Given the description of an element on the screen output the (x, y) to click on. 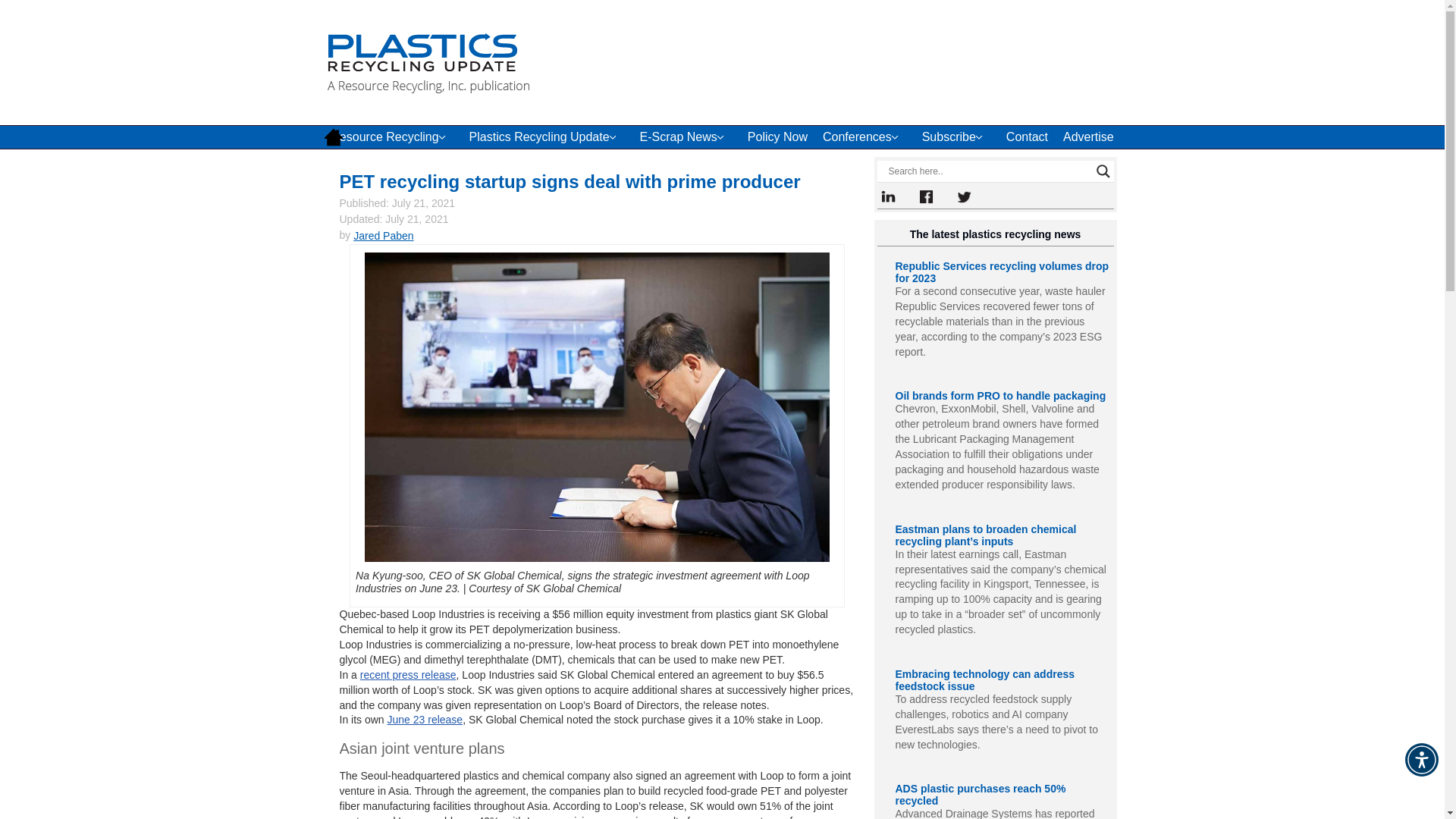
Conferences (864, 137)
Accessibility Menu (1421, 759)
Contact (1026, 137)
E-Scrap News (685, 137)
Policy Now (777, 137)
Plastics Recycling Update (546, 137)
Advertise (1088, 137)
Resource Recycling (392, 137)
Subscribe (956, 137)
View all posts by Jared Paben (383, 235)
